Given the description of an element on the screen output the (x, y) to click on. 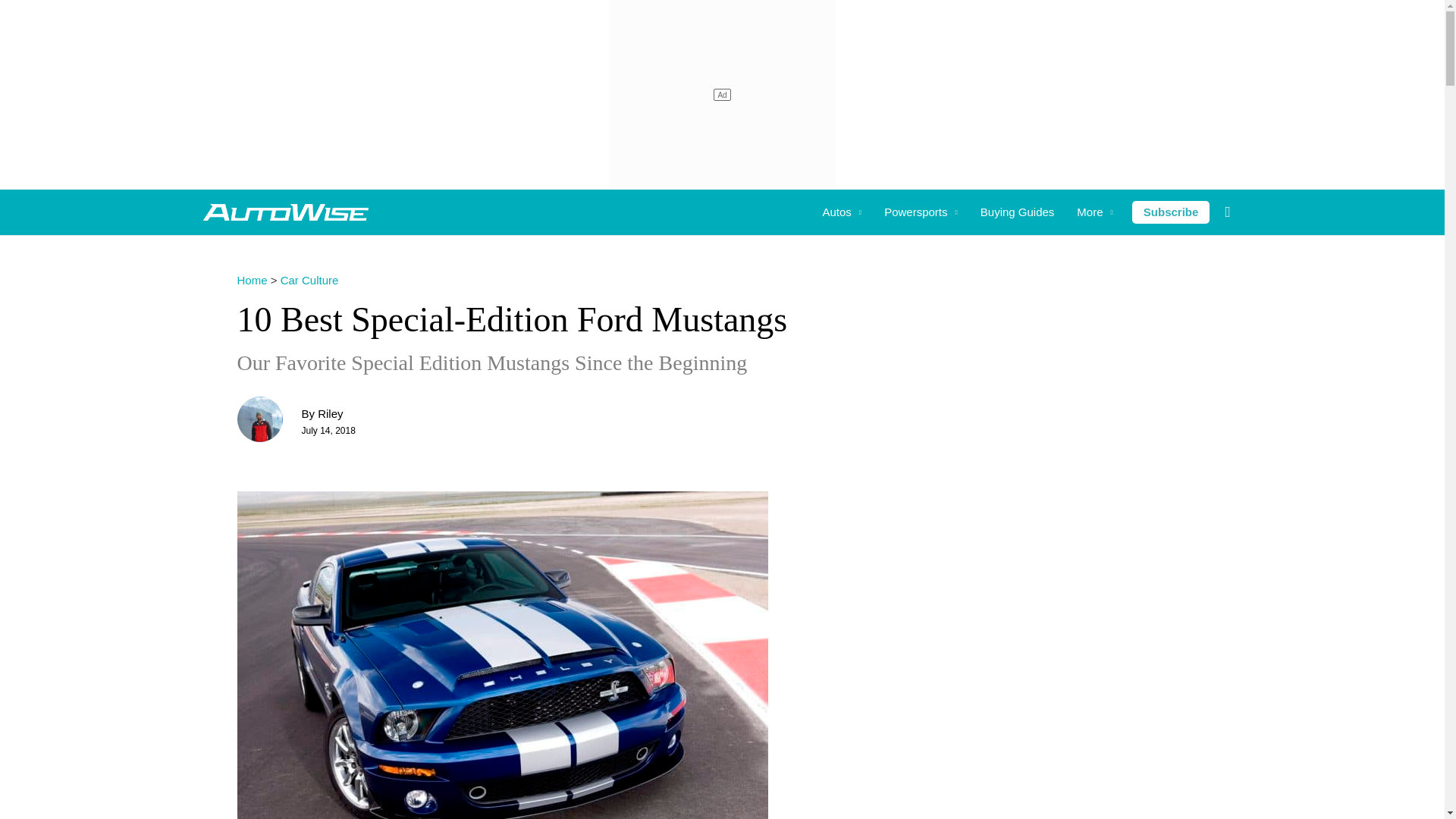
Go to the Car Culture category archives. (310, 279)
Powersports (920, 212)
Buying Guides (1017, 212)
Car Culture (310, 279)
Search (32, 15)
Go to Autowise. (250, 279)
Autos (841, 212)
Riley (329, 413)
Posts by Riley (329, 413)
More (1094, 212)
Home (250, 279)
Subscribe (1170, 211)
